Given the description of an element on the screen output the (x, y) to click on. 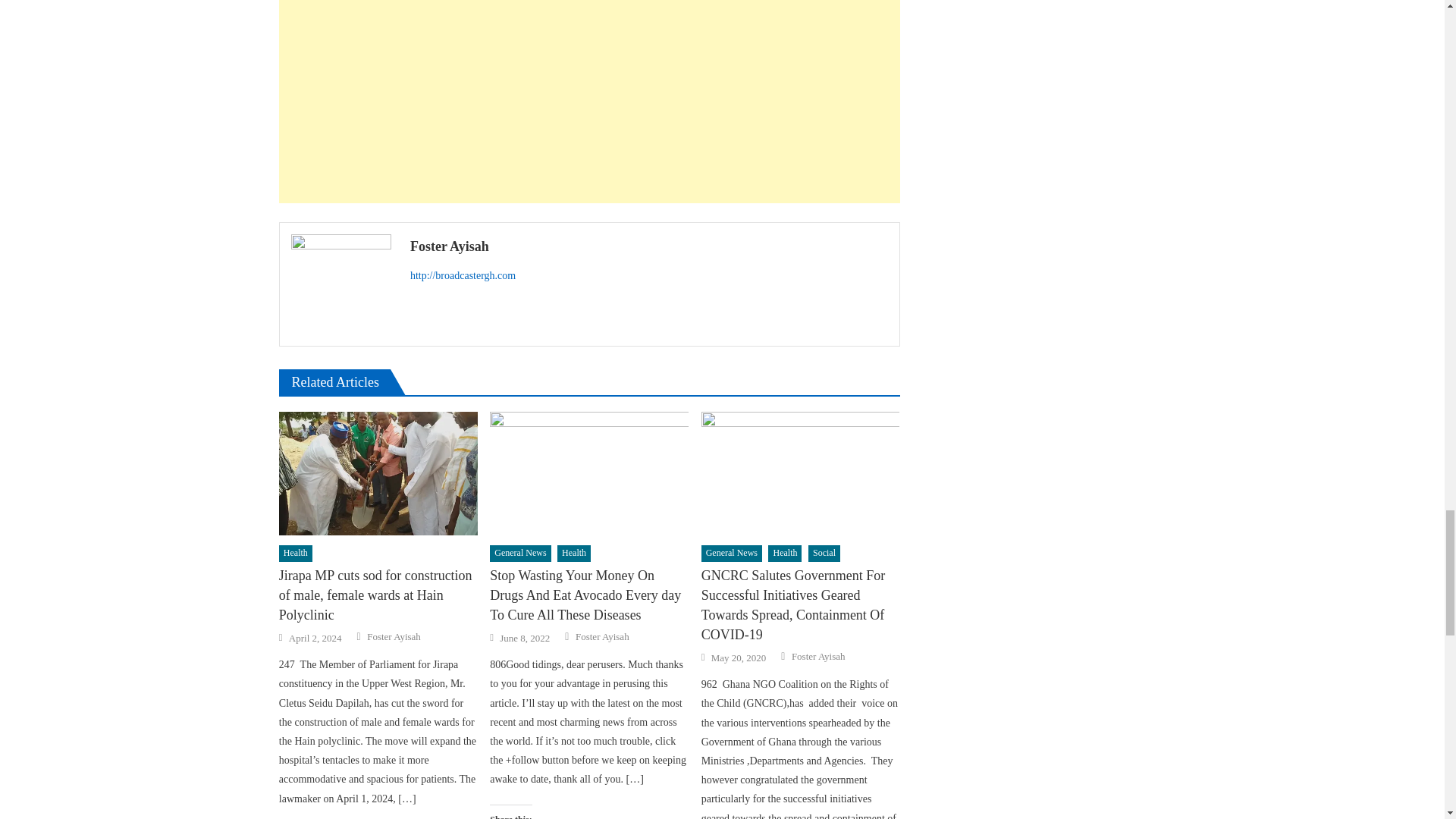
Foster Ayisah (393, 636)
June 8, 2022 (524, 638)
Health (296, 553)
General News (519, 553)
April 2, 2024 (315, 638)
Foster Ayisah (649, 246)
Health (574, 553)
